Given the description of an element on the screen output the (x, y) to click on. 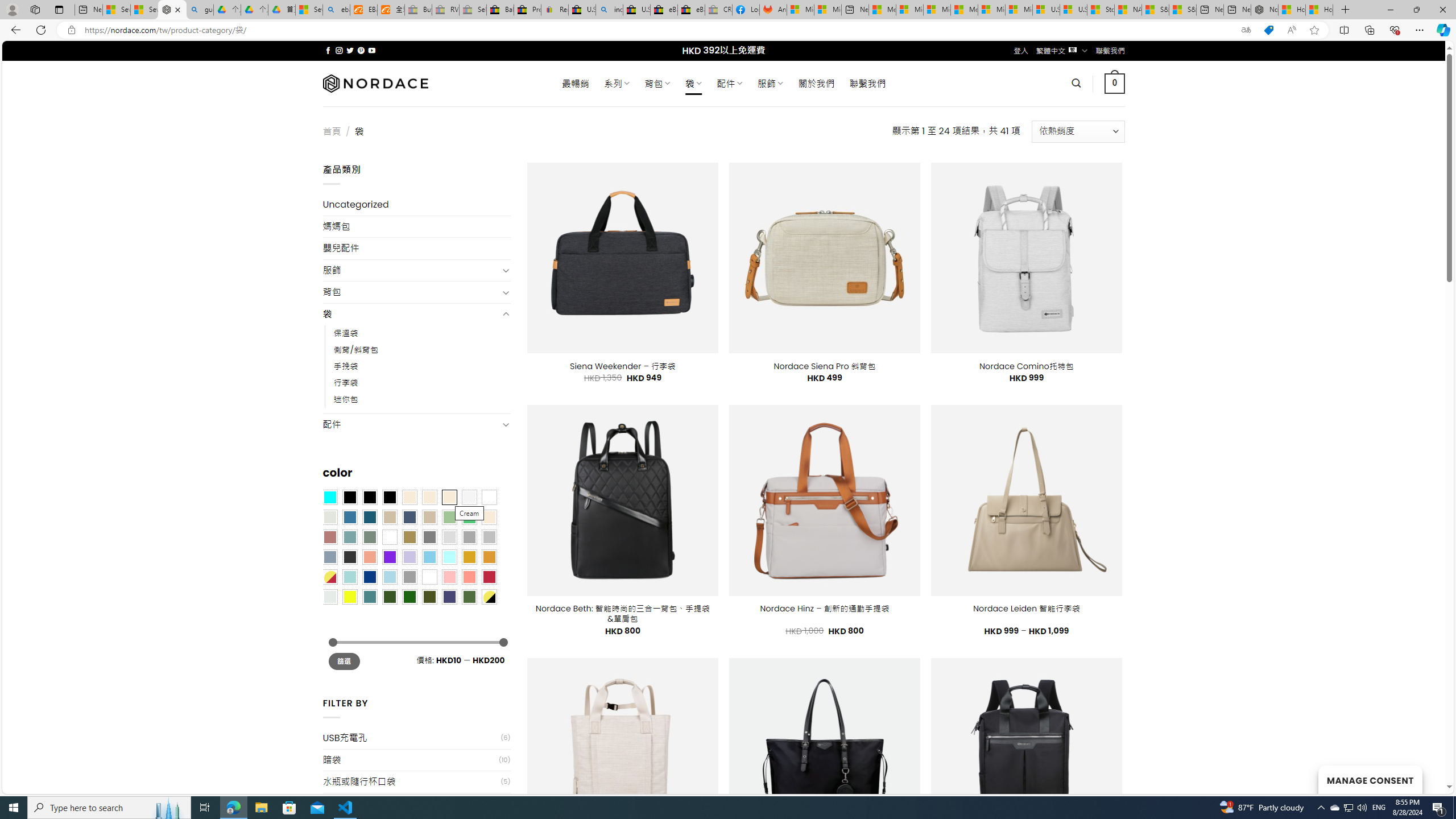
This site has coupons! Shopping in Microsoft Edge (1268, 29)
